Given the description of an element on the screen output the (x, y) to click on. 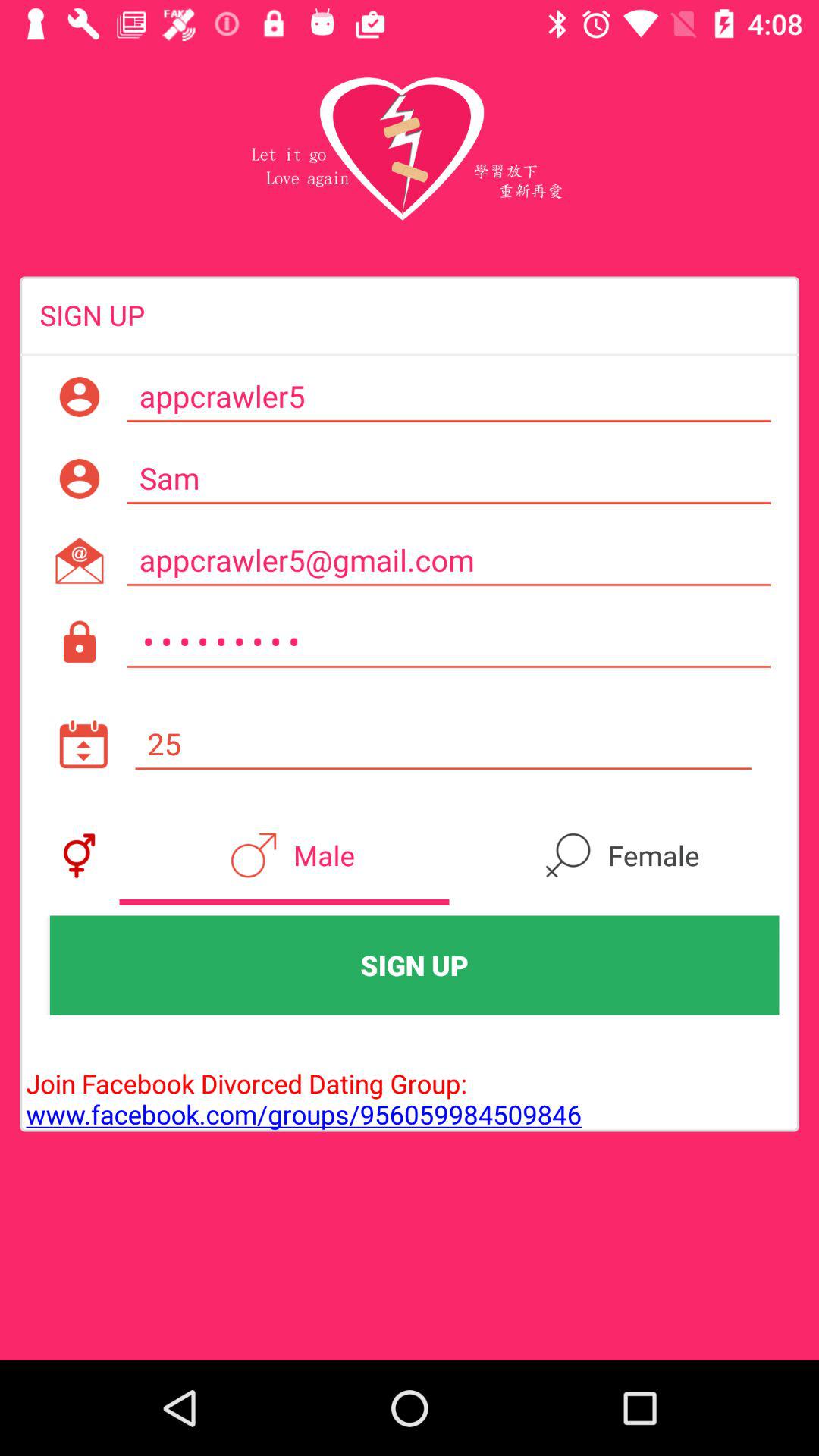
turn on icon below the appcrawler5 (449, 478)
